Given the description of an element on the screen output the (x, y) to click on. 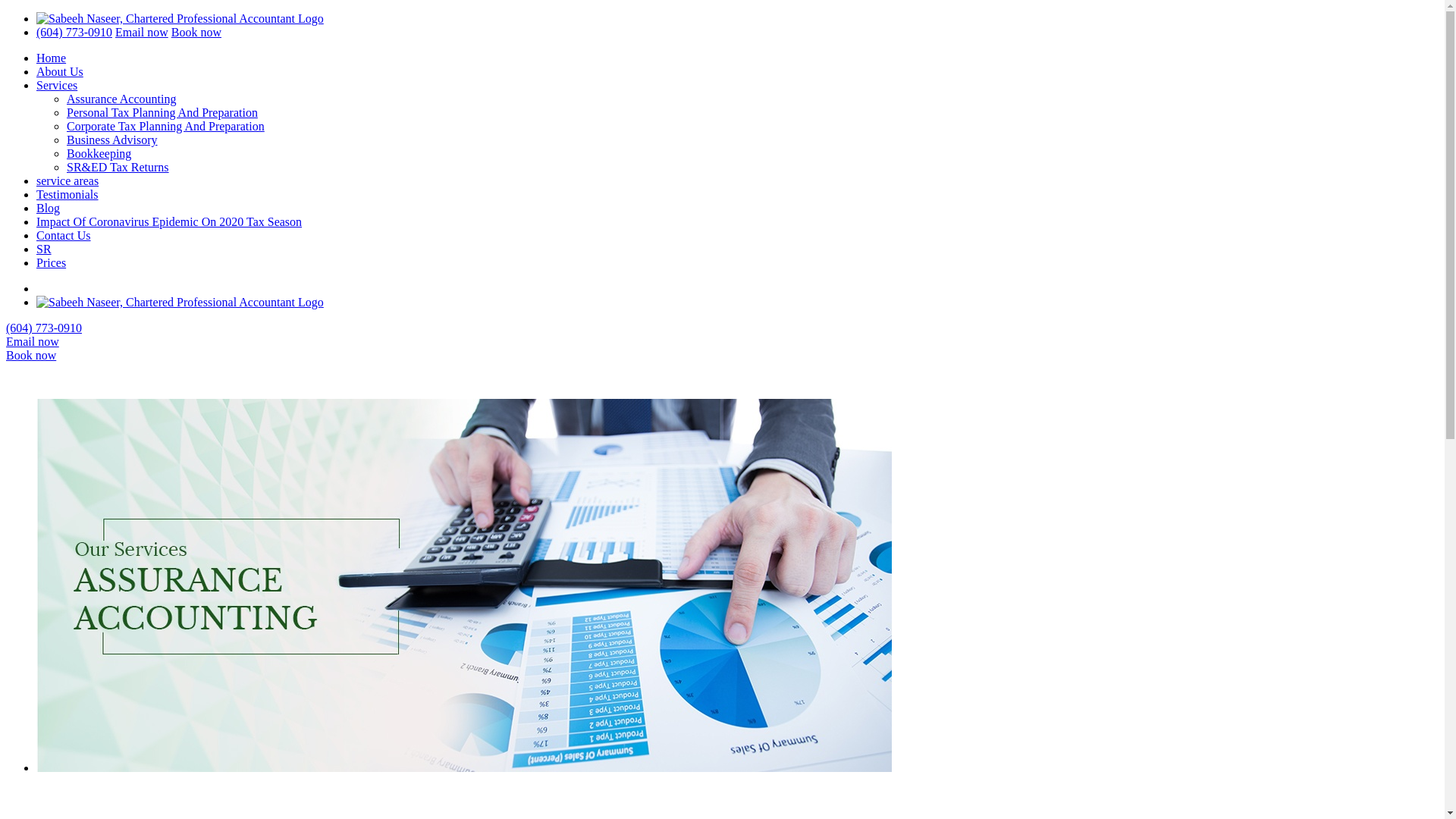
Book now (30, 354)
Business Advisory (111, 139)
SR (43, 248)
Bookkeeping (98, 153)
Blog (47, 207)
Prices (50, 262)
Home (50, 57)
Corporate Tax Planning And Preparation (165, 125)
About Us (59, 71)
Book now (196, 31)
Services (56, 84)
Contact Us (63, 235)
Email now (141, 31)
Testimonials (67, 194)
Assurance Accounting (121, 98)
